Given the description of an element on the screen output the (x, y) to click on. 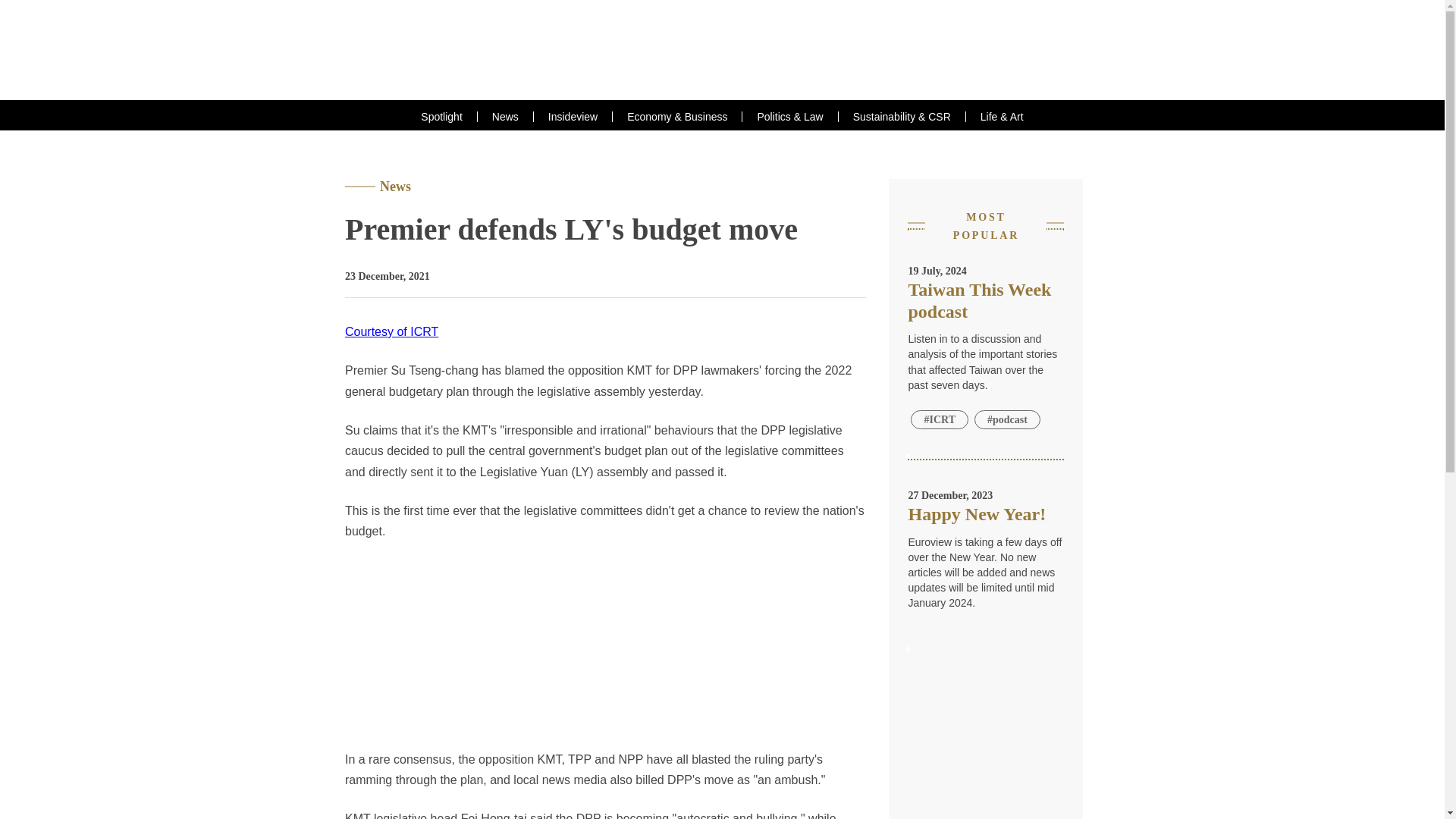
Courtesy of ICRT (391, 331)
News (505, 116)
Insideview (573, 116)
Spotlight (441, 116)
ECCT (722, 49)
